Given the description of an element on the screen output the (x, y) to click on. 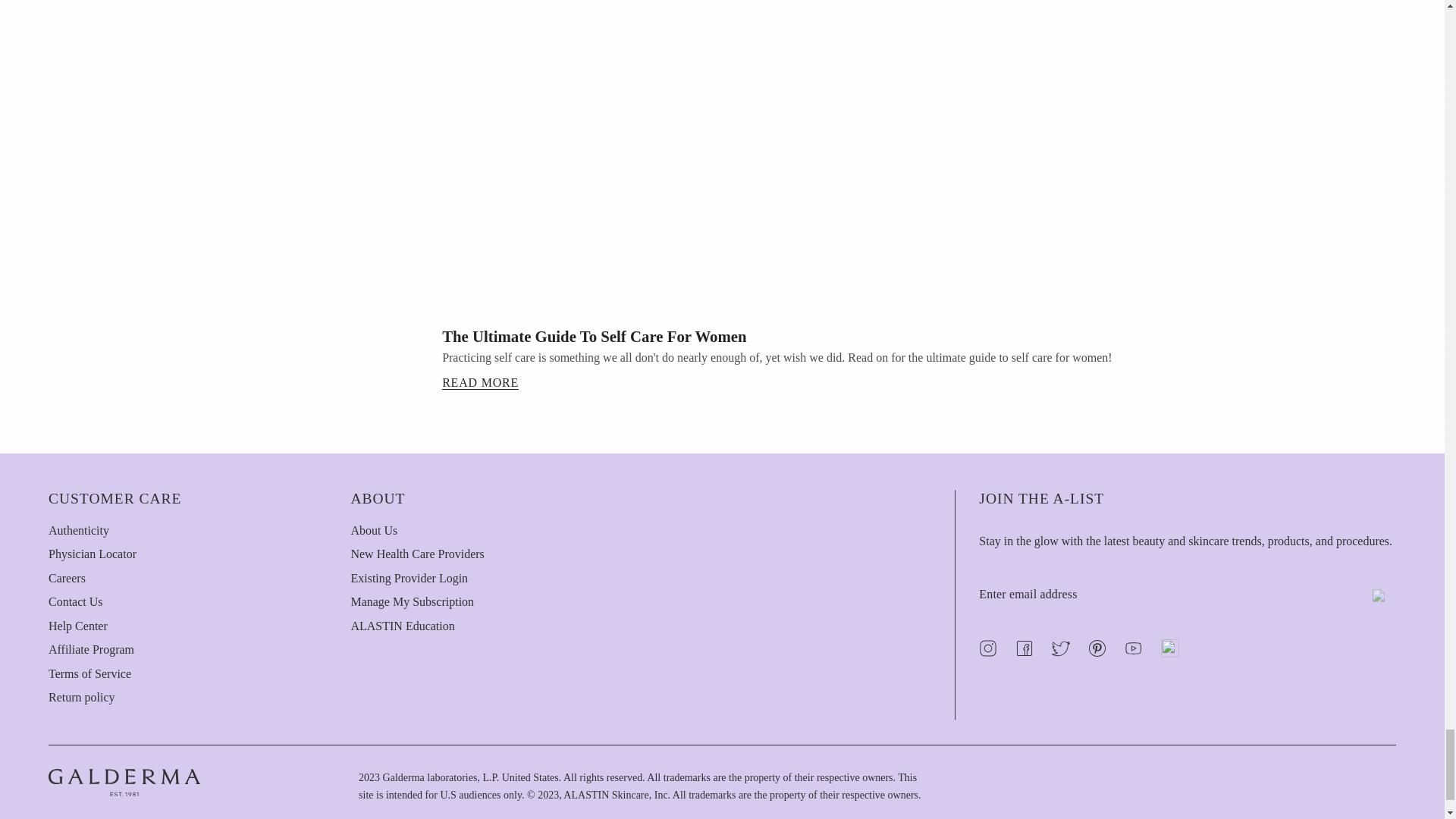
ALASTIN Skincare on Facebook (1026, 647)
ALASTIN Skincare on Pinterest (1099, 647)
ALASTIN Skincare on Twitter (1063, 647)
ALASTIN Skincare on YouTube (1136, 647)
ALASTIN Skincare on Instagram (990, 647)
